Given the description of an element on the screen output the (x, y) to click on. 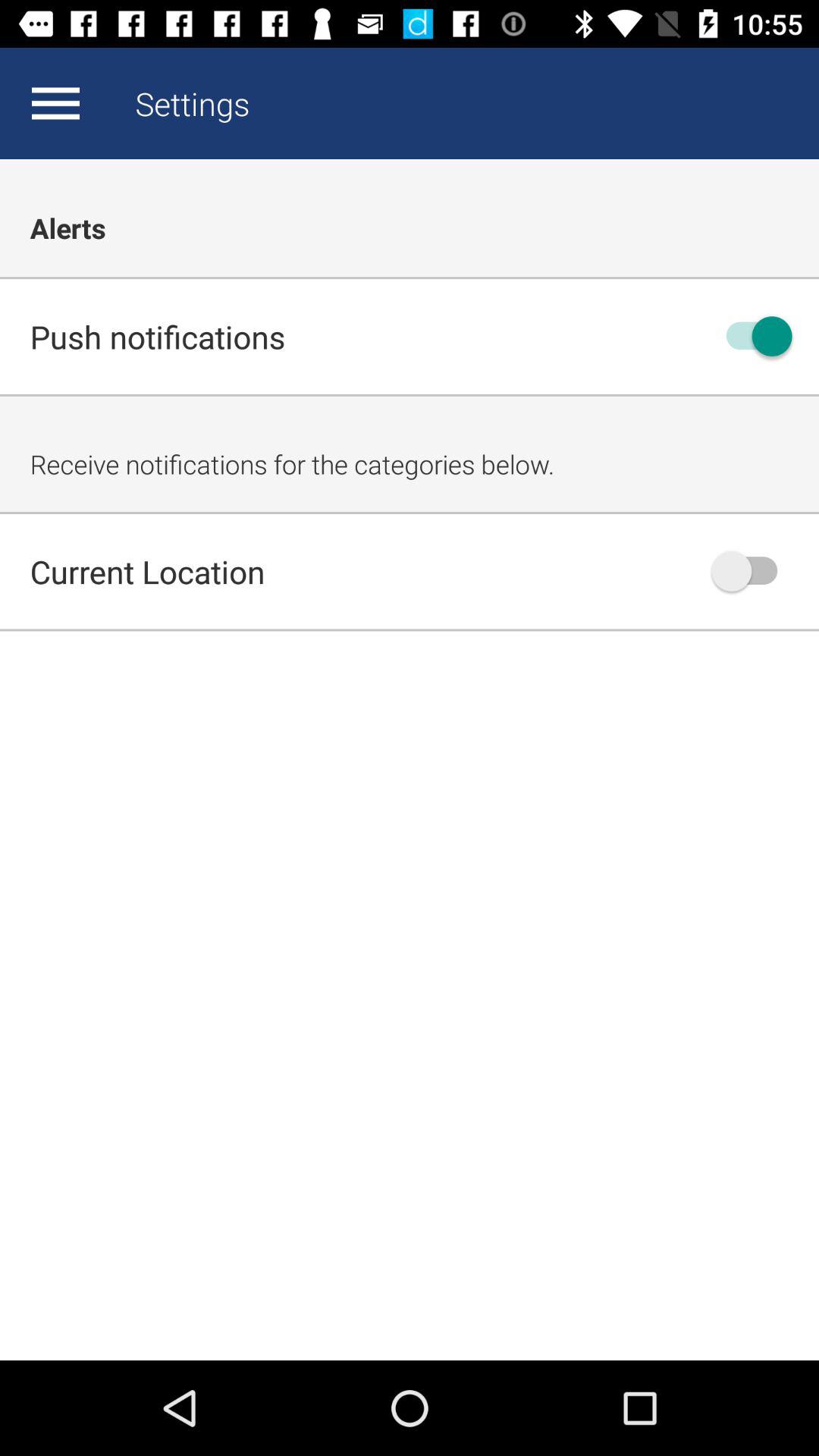
switch toggle for notifications (751, 336)
